Given the description of an element on the screen output the (x, y) to click on. 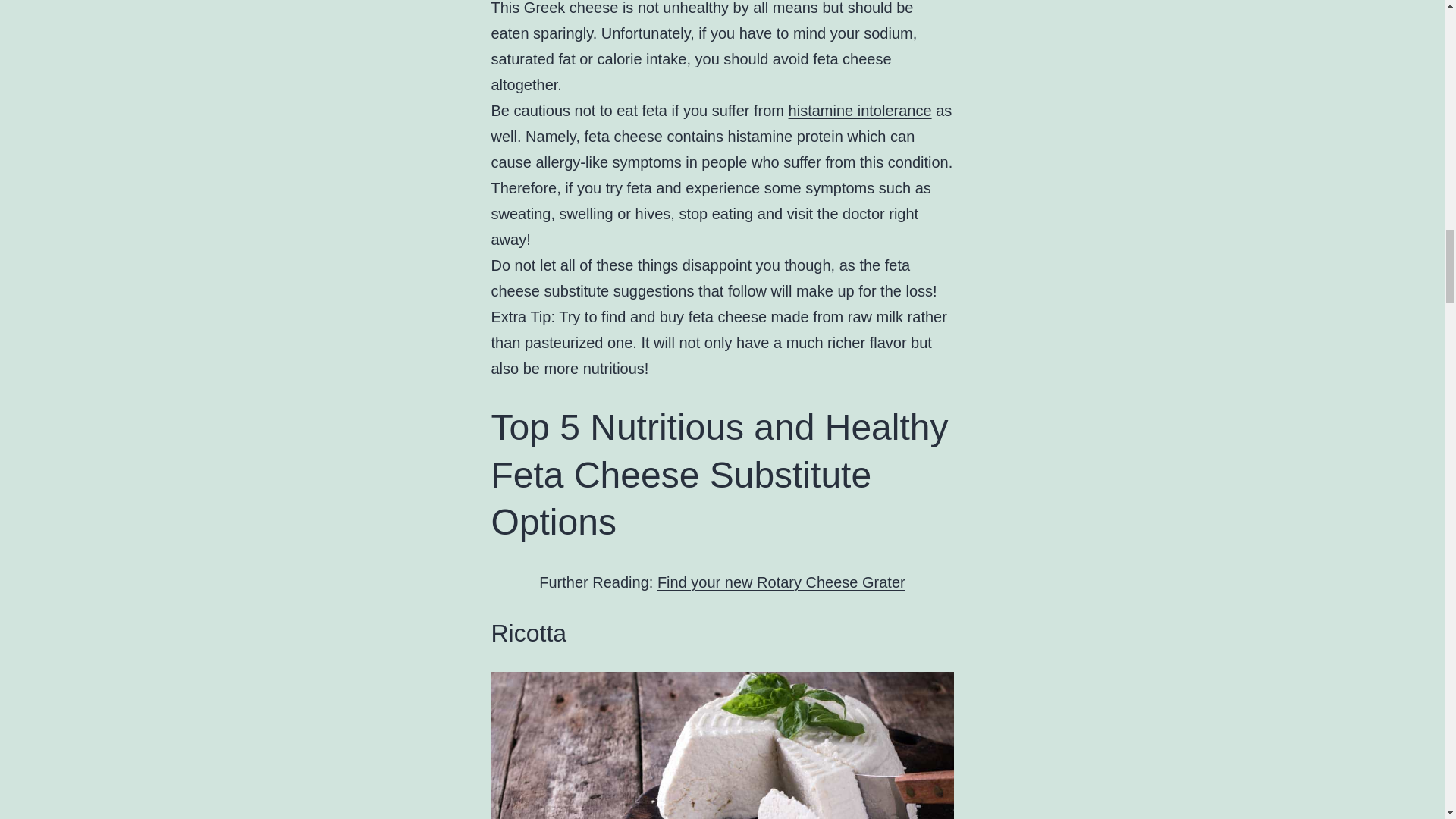
Feta-Cheese-Substitute-Options-Ricotta (722, 745)
histamine intolerance (860, 110)
Find your new Rotary Cheese Grater (781, 582)
saturated fat (533, 58)
